Given the description of an element on the screen output the (x, y) to click on. 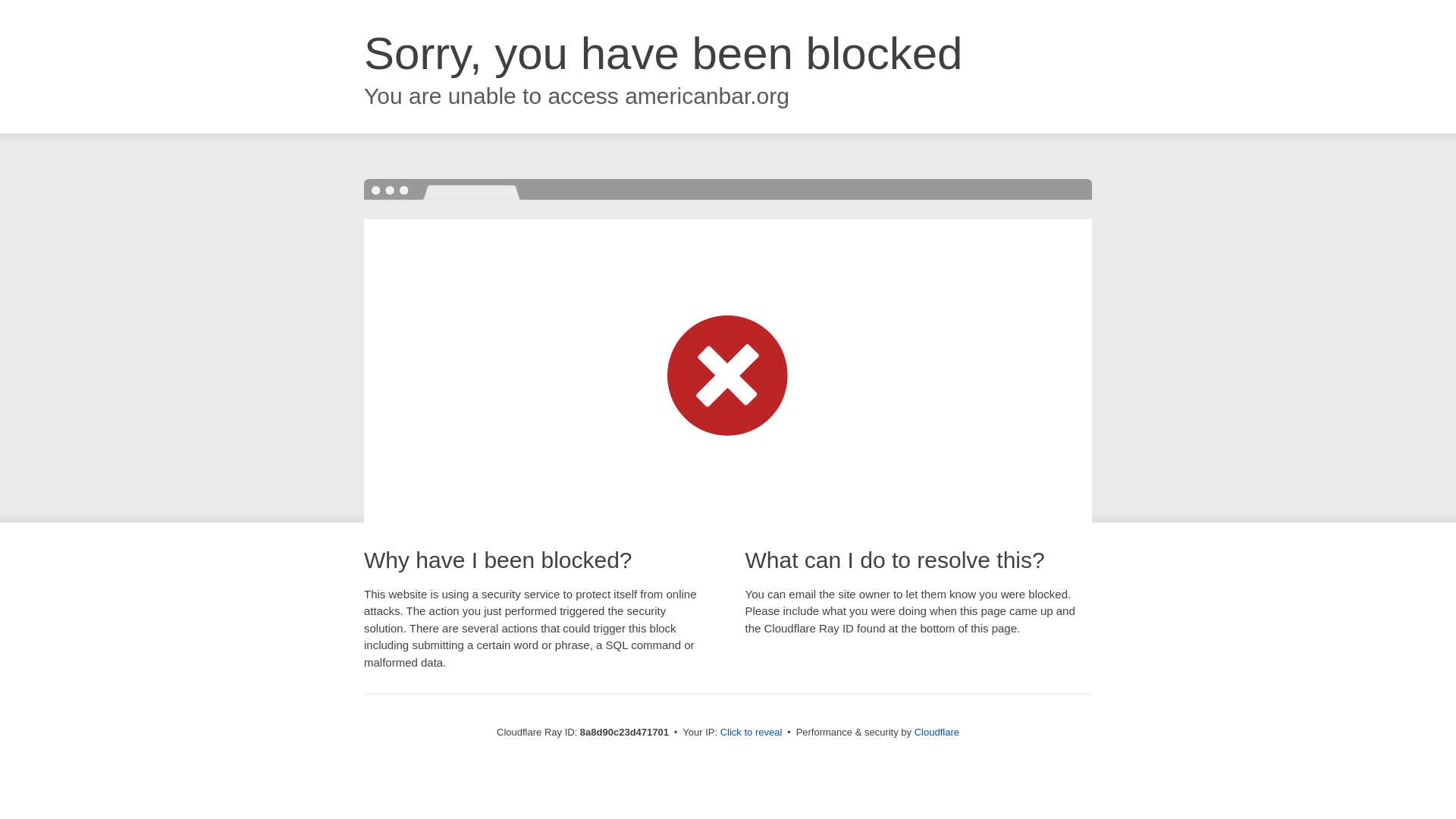
Cloudflare (936, 731)
Click to reveal (751, 732)
